Given the description of an element on the screen output the (x, y) to click on. 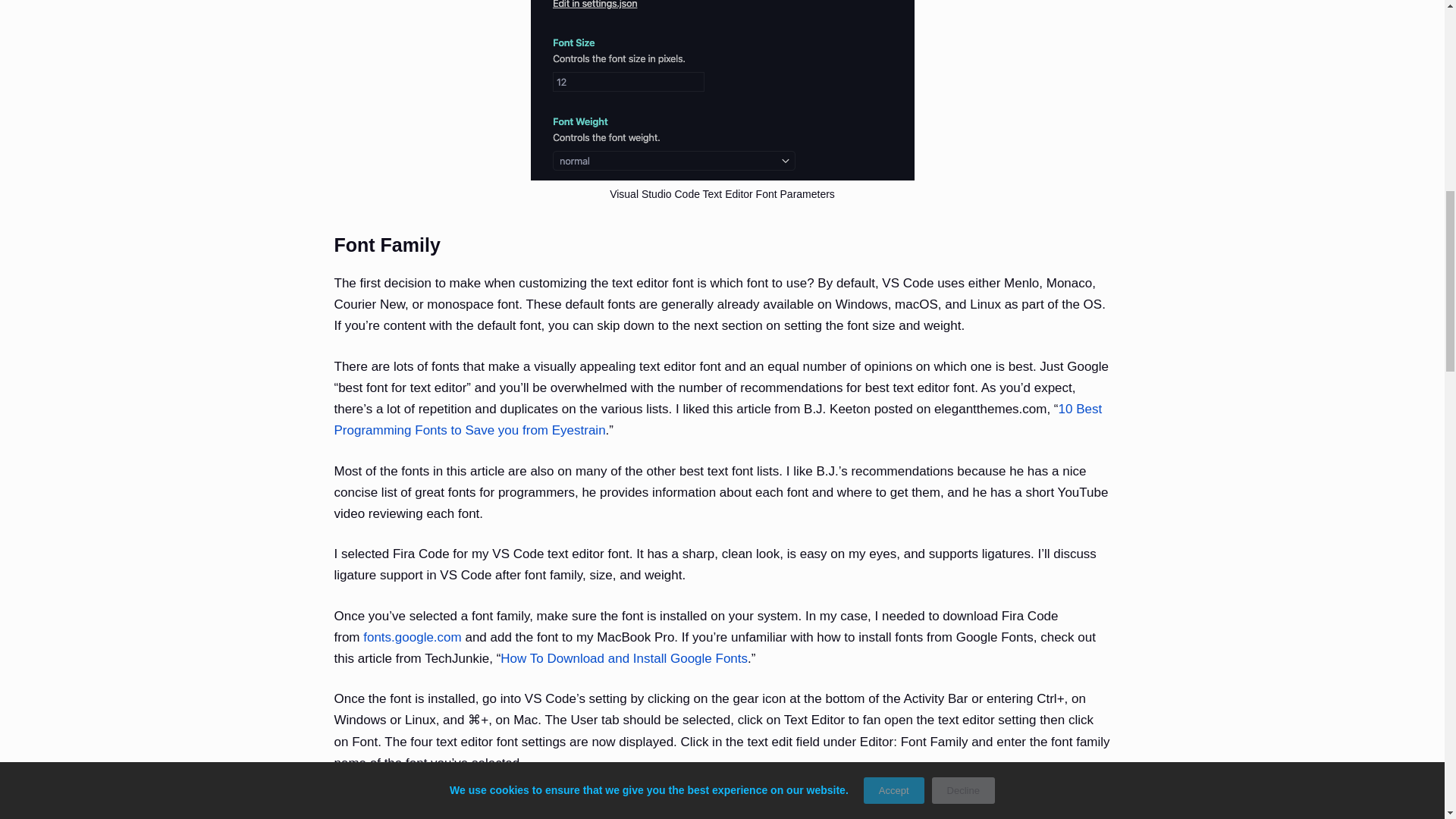
10 Best Programming Fonts to Save you from Eyestrain (717, 419)
How To Download and Install Google Fonts (624, 658)
fonts.google.com (411, 636)
